Given the description of an element on the screen output the (x, y) to click on. 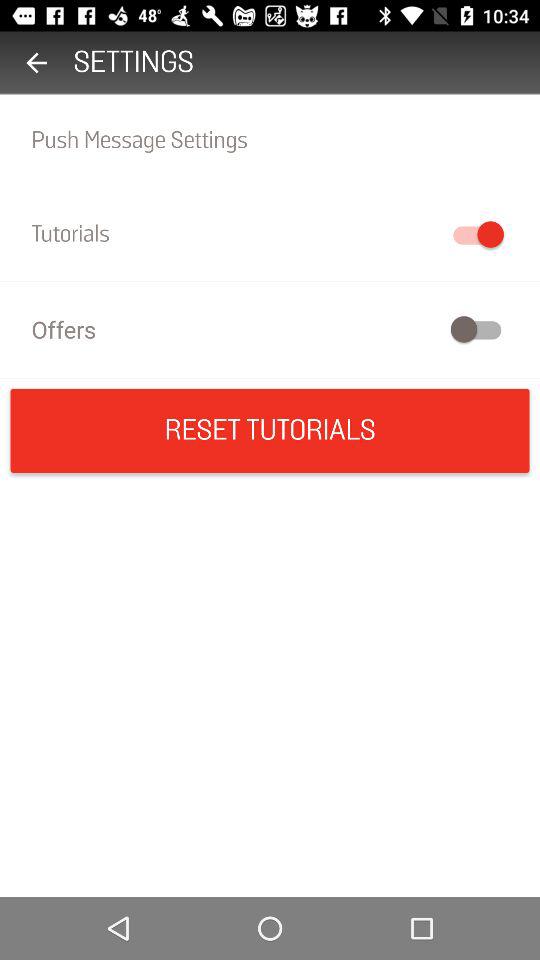
launch offers (270, 328)
